Given the description of an element on the screen output the (x, y) to click on. 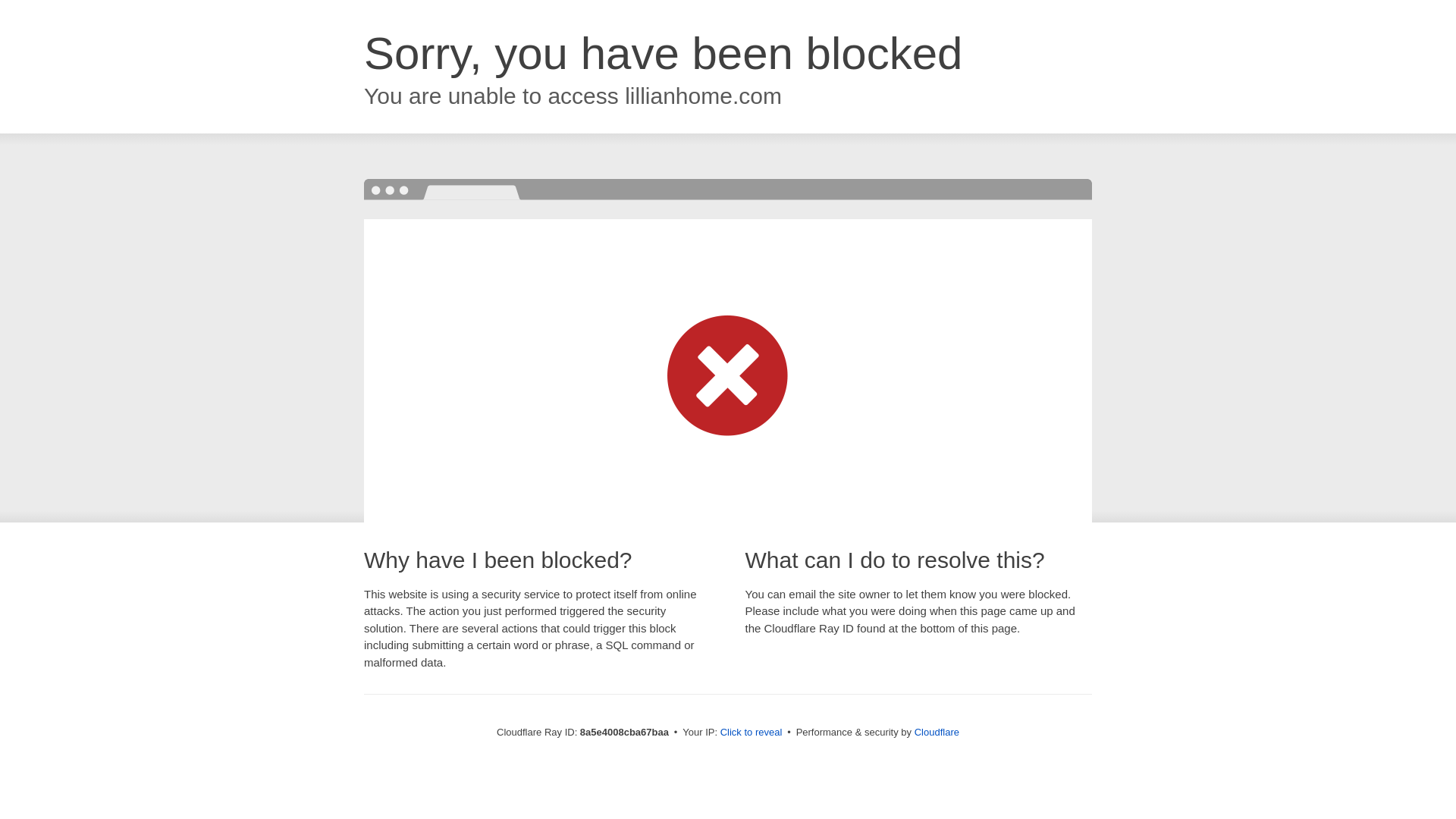
Click to reveal (751, 732)
Cloudflare (936, 731)
